Given the description of an element on the screen output the (x, y) to click on. 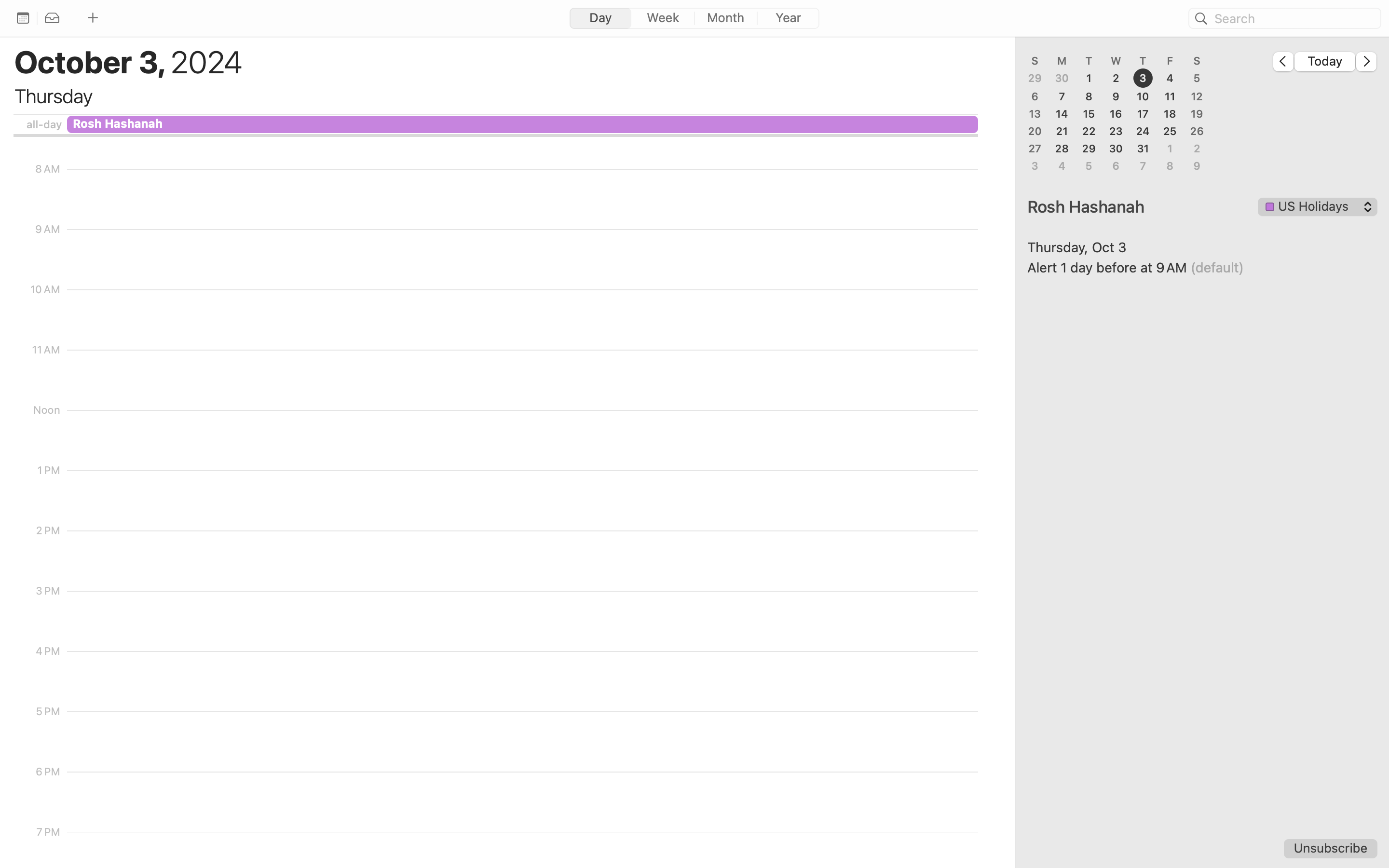
24 Element type: AXStaticText (1142, 130)
5 Element type: AXStaticText (1196, 78)
25 Element type: AXStaticText (1169, 130)
23 Element type: AXStaticText (1115, 130)
9 Element type: AXStaticText (1115, 96)
